Given the description of an element on the screen output the (x, y) to click on. 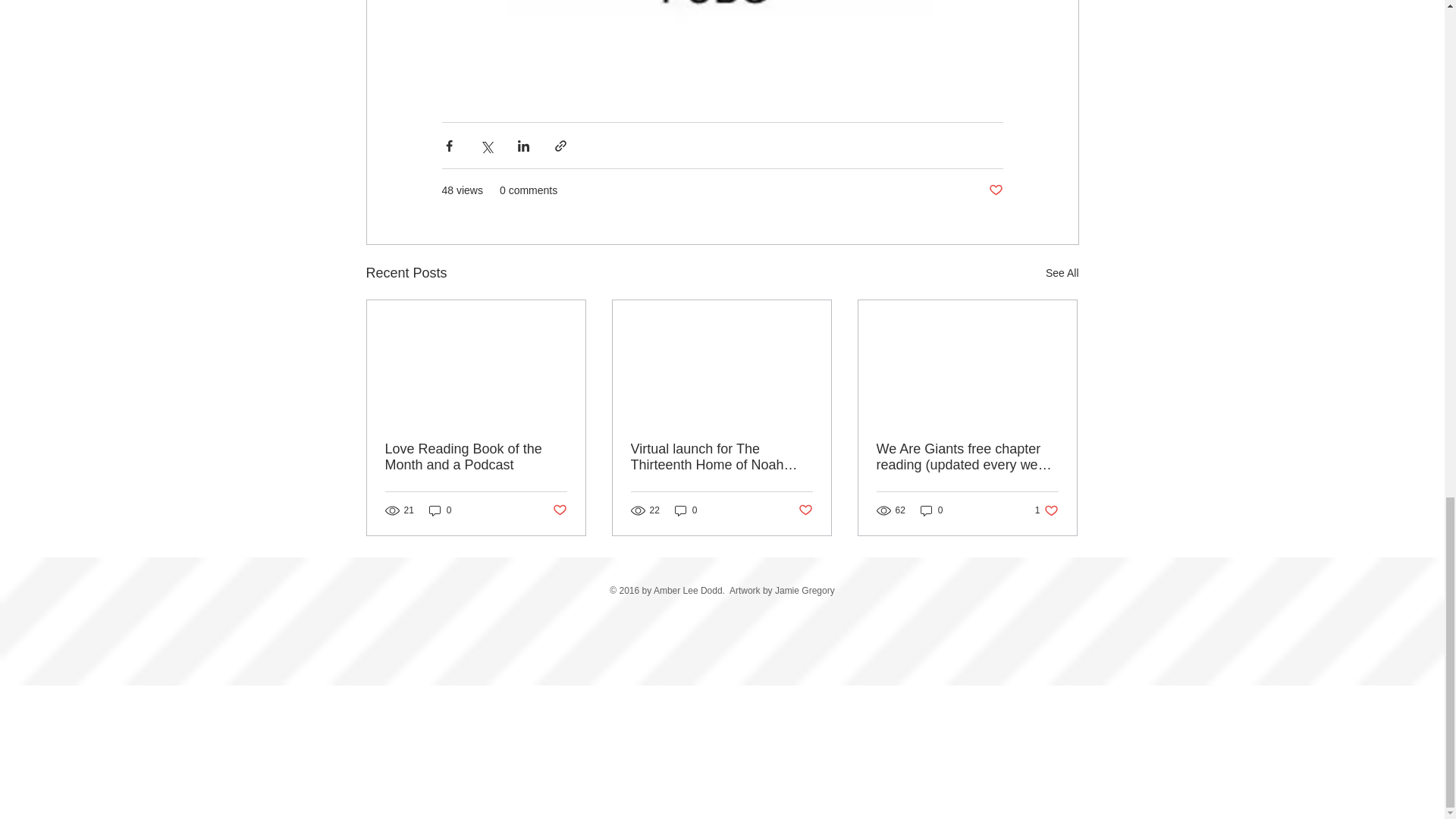
See All (1046, 510)
Post not marked as liked (1061, 273)
Love Reading Book of the Month and a Podcast (995, 190)
0 (476, 457)
Post not marked as liked (931, 510)
Post not marked as liked (558, 509)
Virtual launch for The Thirteenth Home of Noah Bradley (804, 509)
0 (721, 457)
0 (440, 510)
